Given the description of an element on the screen output the (x, y) to click on. 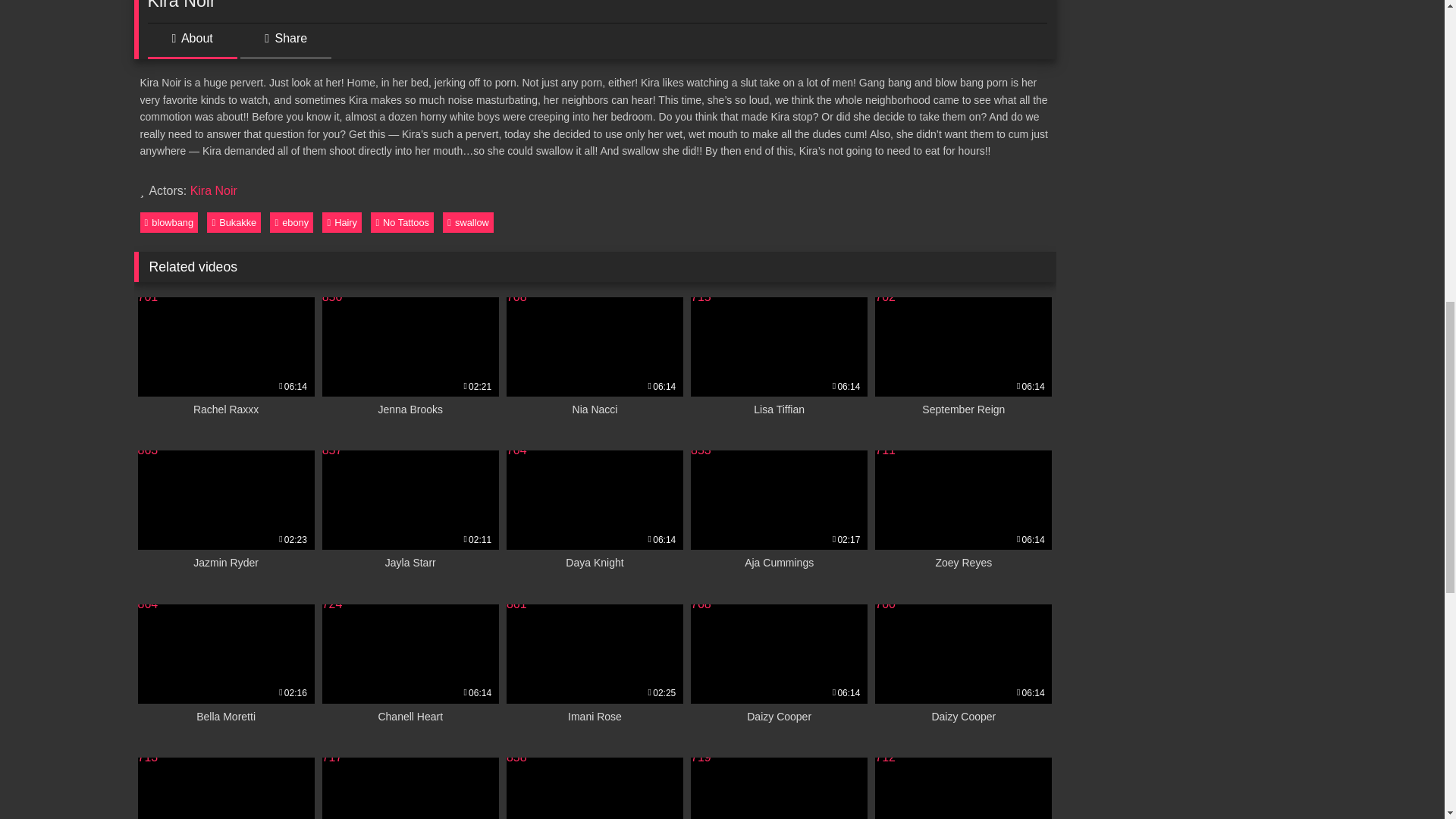
Hairy (226, 518)
Bukakke (594, 518)
Lisa Tiffian (341, 221)
swallow (233, 221)
ebony (226, 672)
ebony (778, 365)
swallow (963, 518)
